Given the description of an element on the screen output the (x, y) to click on. 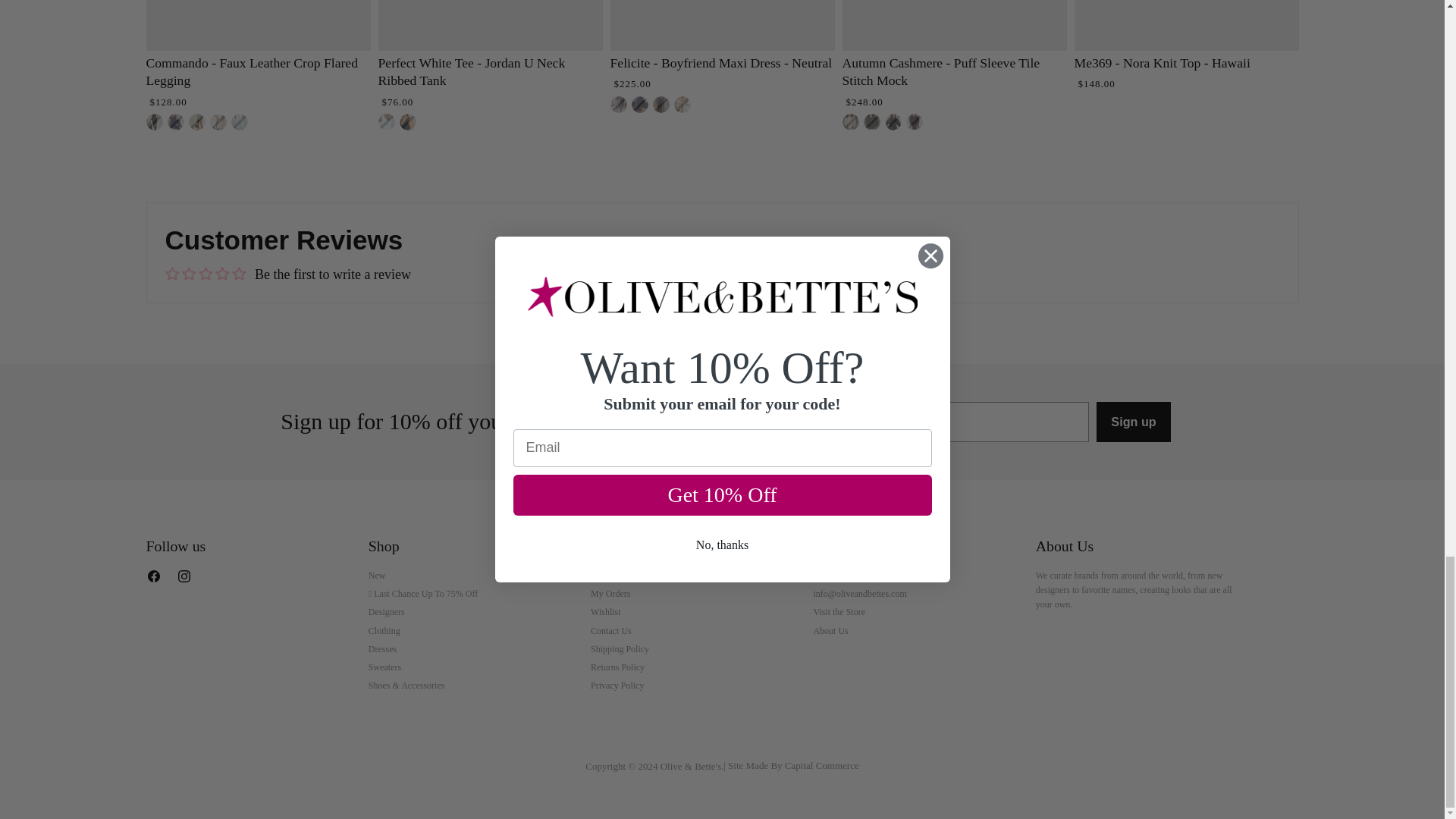
Facebook (156, 578)
Instagram (186, 578)
